Given the description of an element on the screen output the (x, y) to click on. 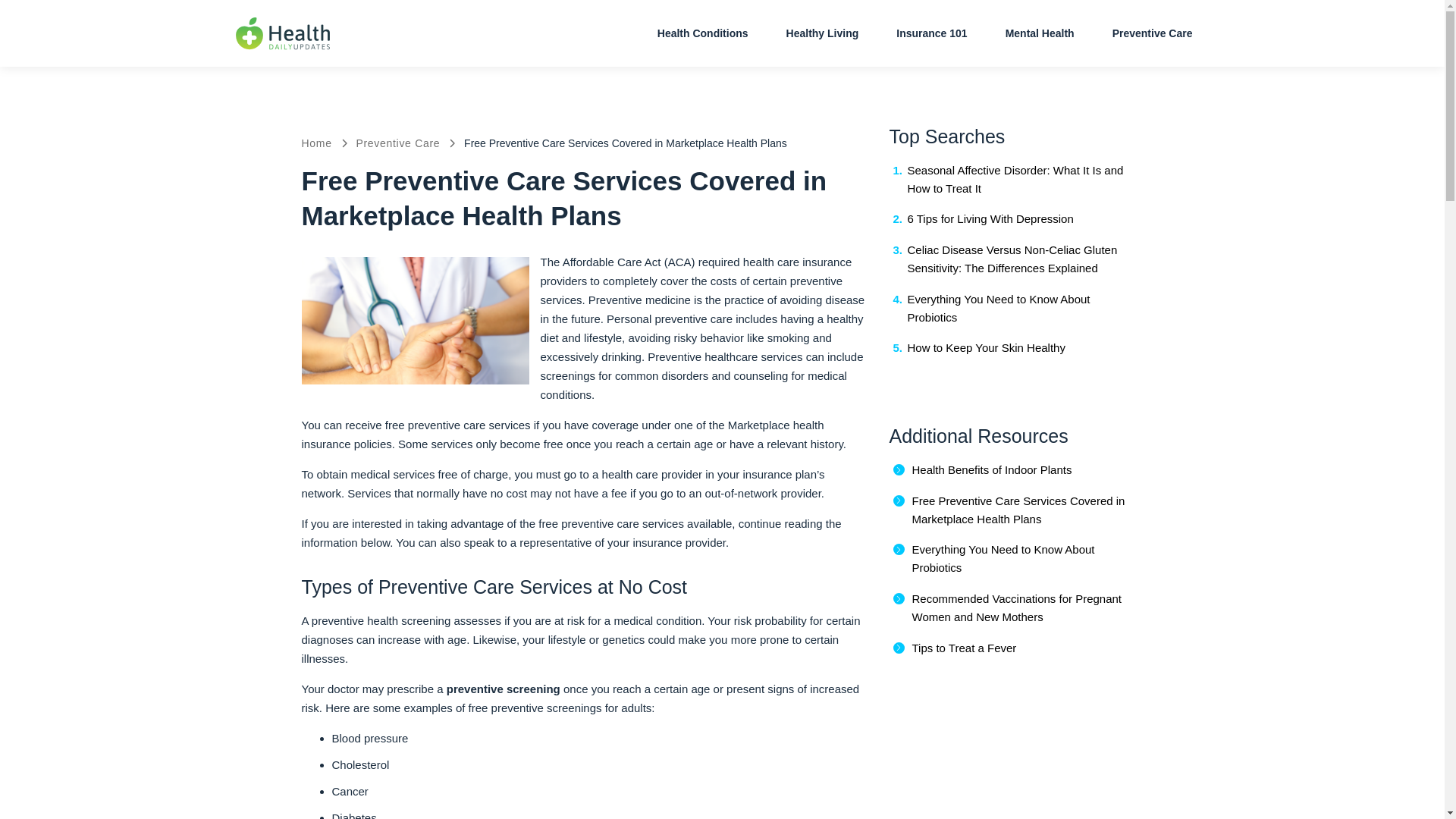
Tips to Treat a Fever (963, 647)
Home (316, 143)
Everything You Need to Know About Probiotics (1002, 558)
6 Tips for Living With Depression (990, 218)
Everything You Need to Know About Probiotics (998, 307)
Recommended Vaccinations for Pregnant Women and New Mothers (1016, 607)
Healthy Living (823, 33)
Seasonal Affective Disorder: What It Is and How to Treat It (1014, 178)
Health Benefits of Indoor Plants (991, 469)
